Given the description of an element on the screen output the (x, y) to click on. 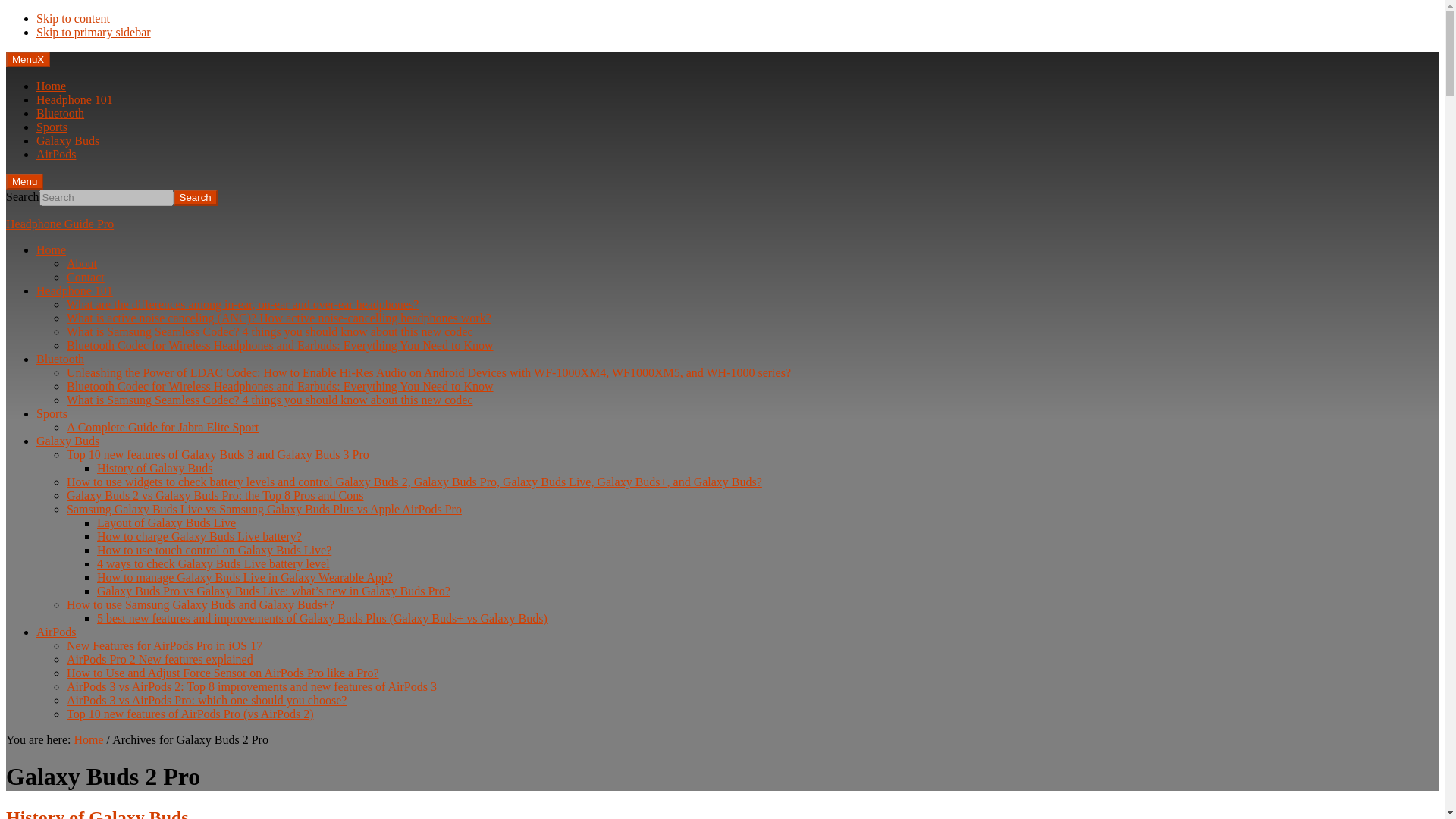
Bluetooth (60, 113)
4 ways to check Galaxy Buds Live battery level (213, 563)
Headphone Guide Pro (59, 223)
History of Galaxy Buds (154, 468)
Menu (24, 181)
Headphone 101 (74, 290)
Home (50, 85)
About (81, 263)
Home (50, 249)
Top 10 new features of Galaxy Buds 3 and Galaxy Buds 3 Pro (217, 454)
AirPods (55, 154)
Galaxy Buds (67, 440)
